Given the description of an element on the screen output the (x, y) to click on. 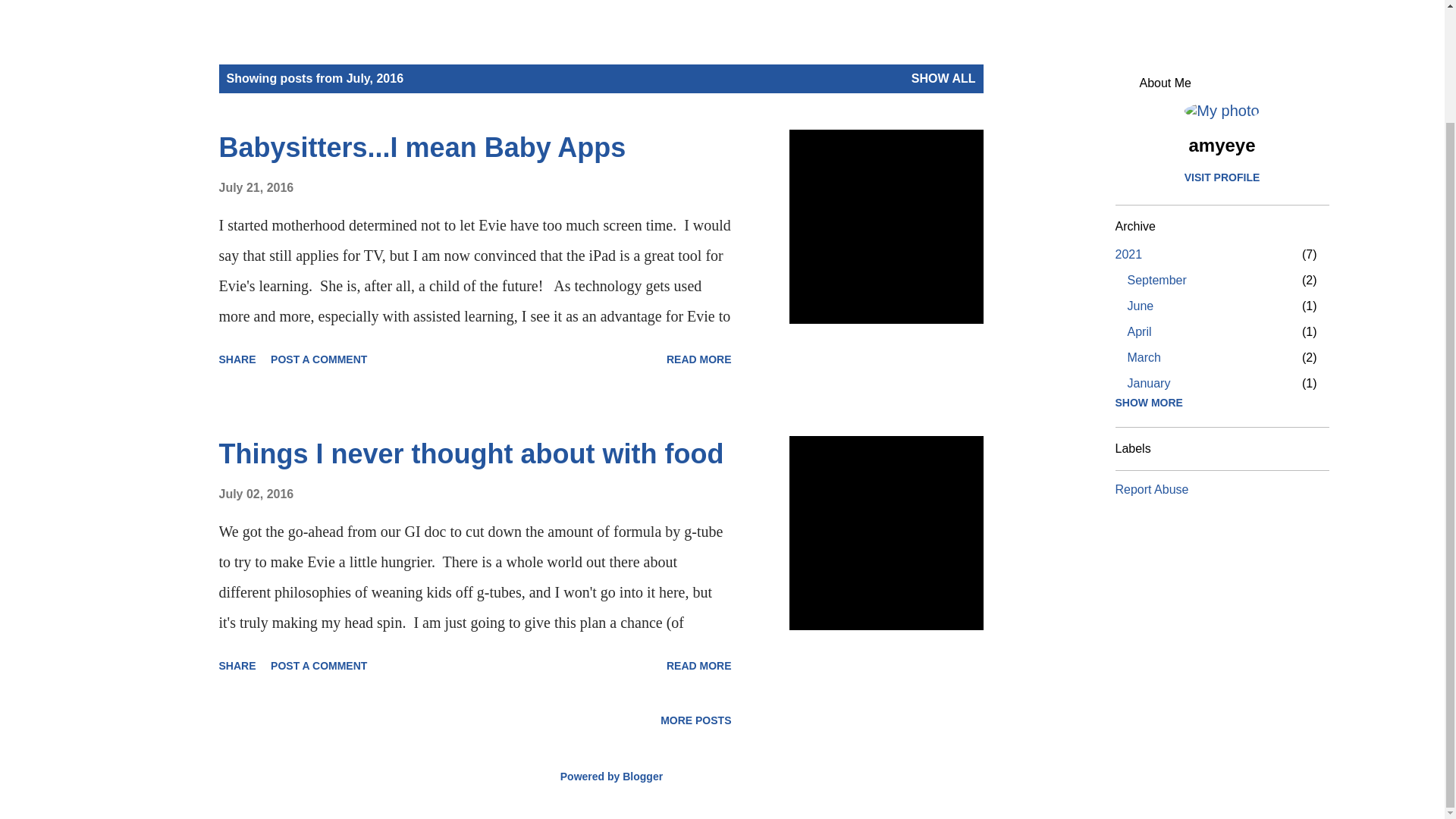
MORE POSTS (694, 720)
SHARE (237, 359)
Things I never thought about with food (470, 453)
READ MORE (699, 665)
SHARE (1138, 331)
SHOW ALL (237, 665)
READ MORE (1128, 254)
POST A COMMENT (1156, 279)
July 21, 2016 (943, 78)
VISIT PROFILE (699, 359)
Babysitters...I mean Baby Apps (318, 665)
